Given the description of an element on the screen output the (x, y) to click on. 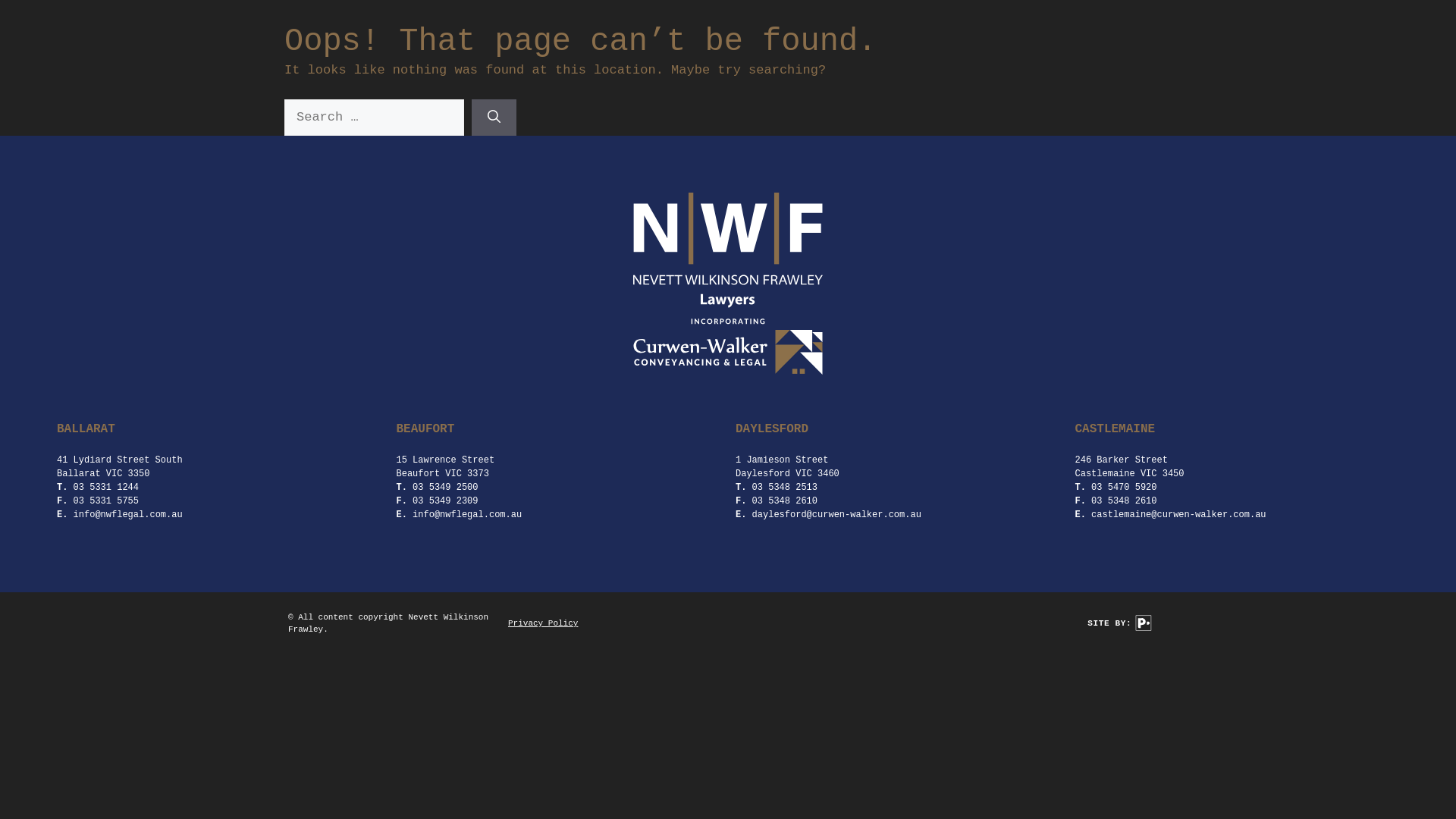
info@nwflegal.com.au Element type: text (127, 514)
15 Lawrence Street
Beaufort VIC 3373 Element type: text (444, 467)
246 Barker Street
Castlemaine VIC 3450 Element type: text (1129, 467)
03 5348 2513 Element type: text (784, 487)
41 Lydiard Street South
Ballarat VIC 3350 Element type: text (119, 467)
Privacy Policy Element type: text (542, 622)
03 5470 5920 Element type: text (1123, 487)
03 5349 2500 Element type: text (444, 487)
info@nwflegal.com.au Element type: text (466, 514)
NWF CW_Colour-Rev-Transparent Element type: hover (727, 283)
Search for: Element type: hover (374, 117)
03 5331 1244 Element type: text (105, 487)
1 Jamieson Street
Daylesford VIC 3460 Element type: text (787, 467)
